Given the description of an element on the screen output the (x, y) to click on. 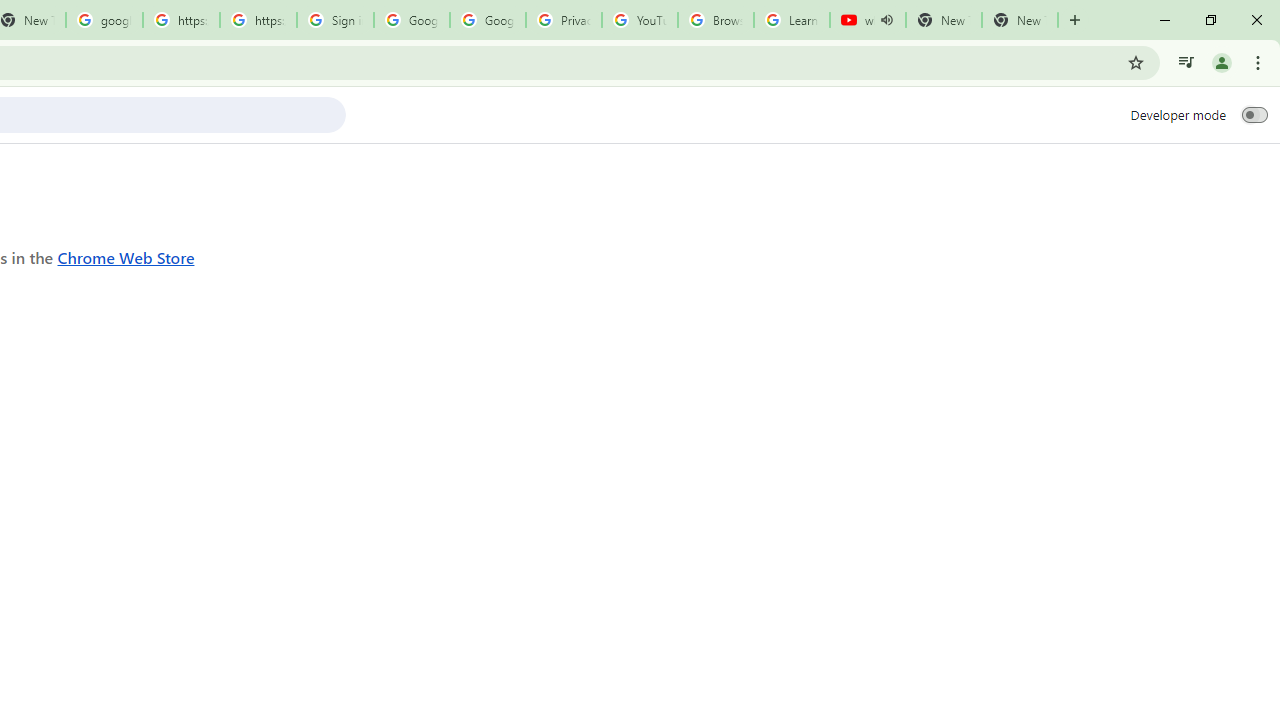
Browse Chrome as a guest - Computer - Google Chrome Help (715, 20)
YouTube (639, 20)
Chrome Web Store (125, 256)
https://scholar.google.com/ (181, 20)
Sign in - Google Accounts (335, 20)
https://scholar.google.com/ (258, 20)
